Given the description of an element on the screen output the (x, y) to click on. 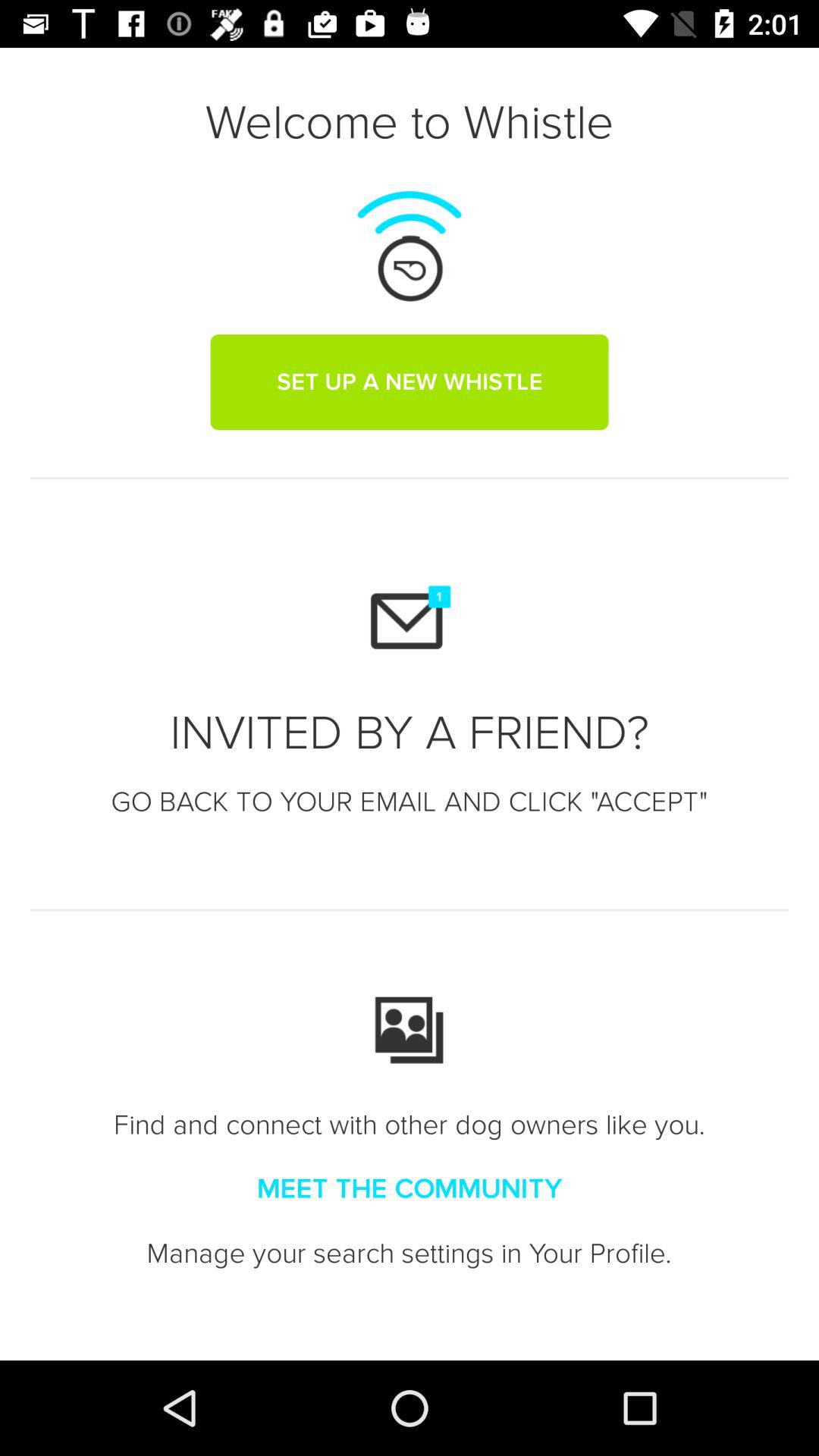
jump until the meet the community item (409, 1189)
